Given the description of an element on the screen output the (x, y) to click on. 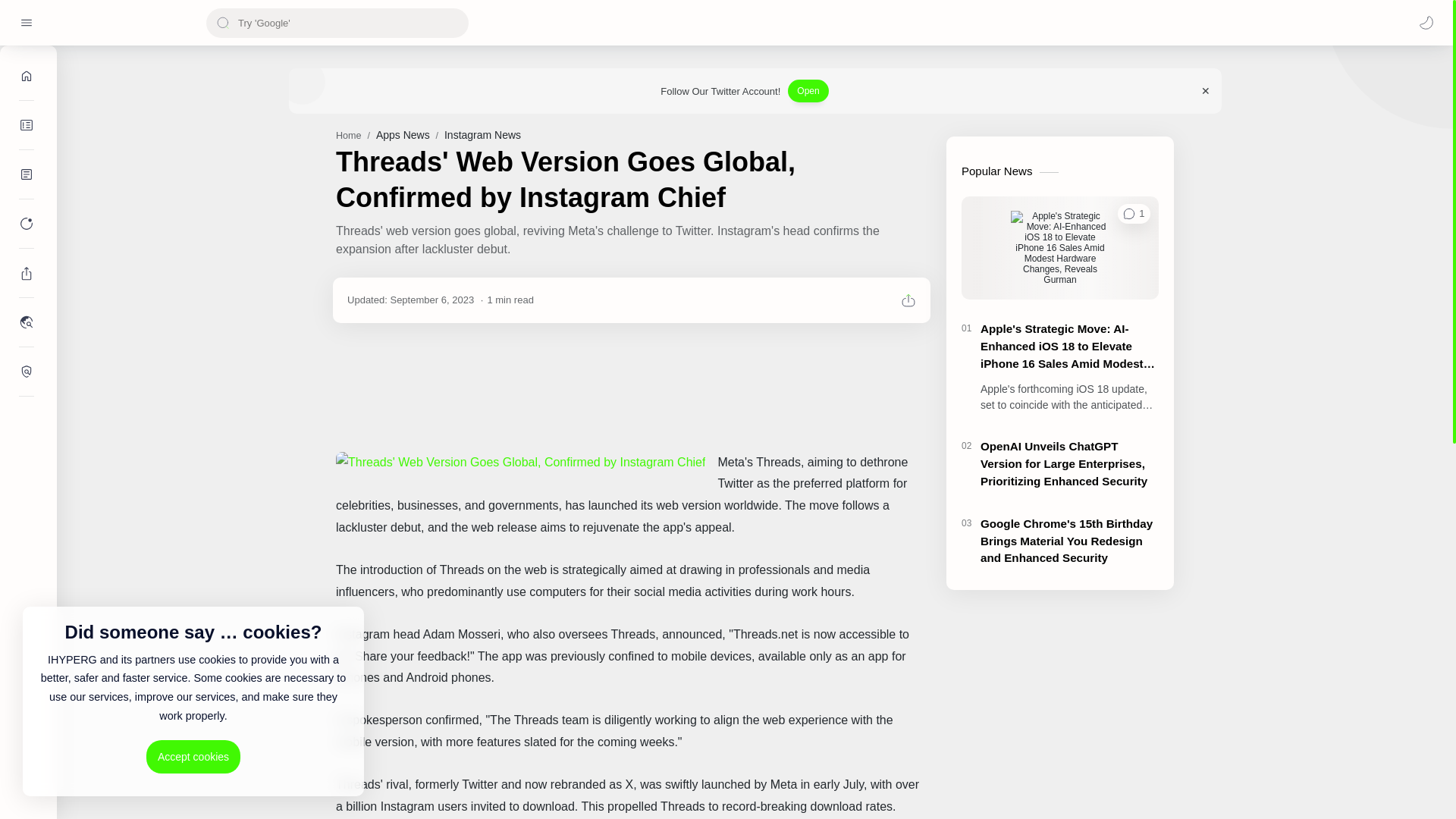
Apps News (402, 134)
Home (348, 135)
Open (807, 90)
Instagram News (482, 134)
Last updated: September 6, 2023 (410, 299)
Advertisement (1059, 708)
Advertisement (631, 386)
